Given the description of an element on the screen output the (x, y) to click on. 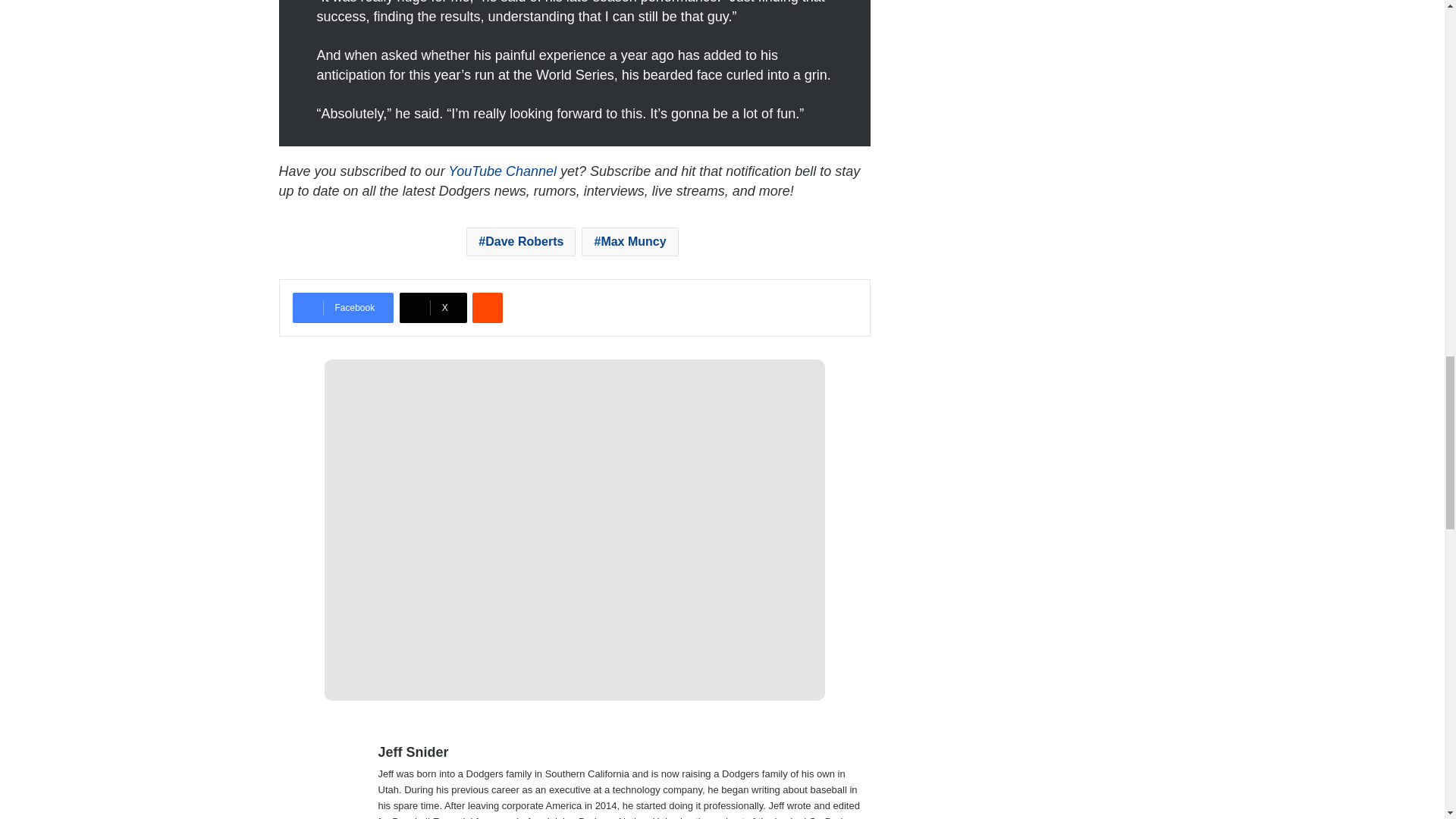
X (432, 307)
Reddit (486, 307)
Facebook (343, 307)
